Given the description of an element on the screen output the (x, y) to click on. 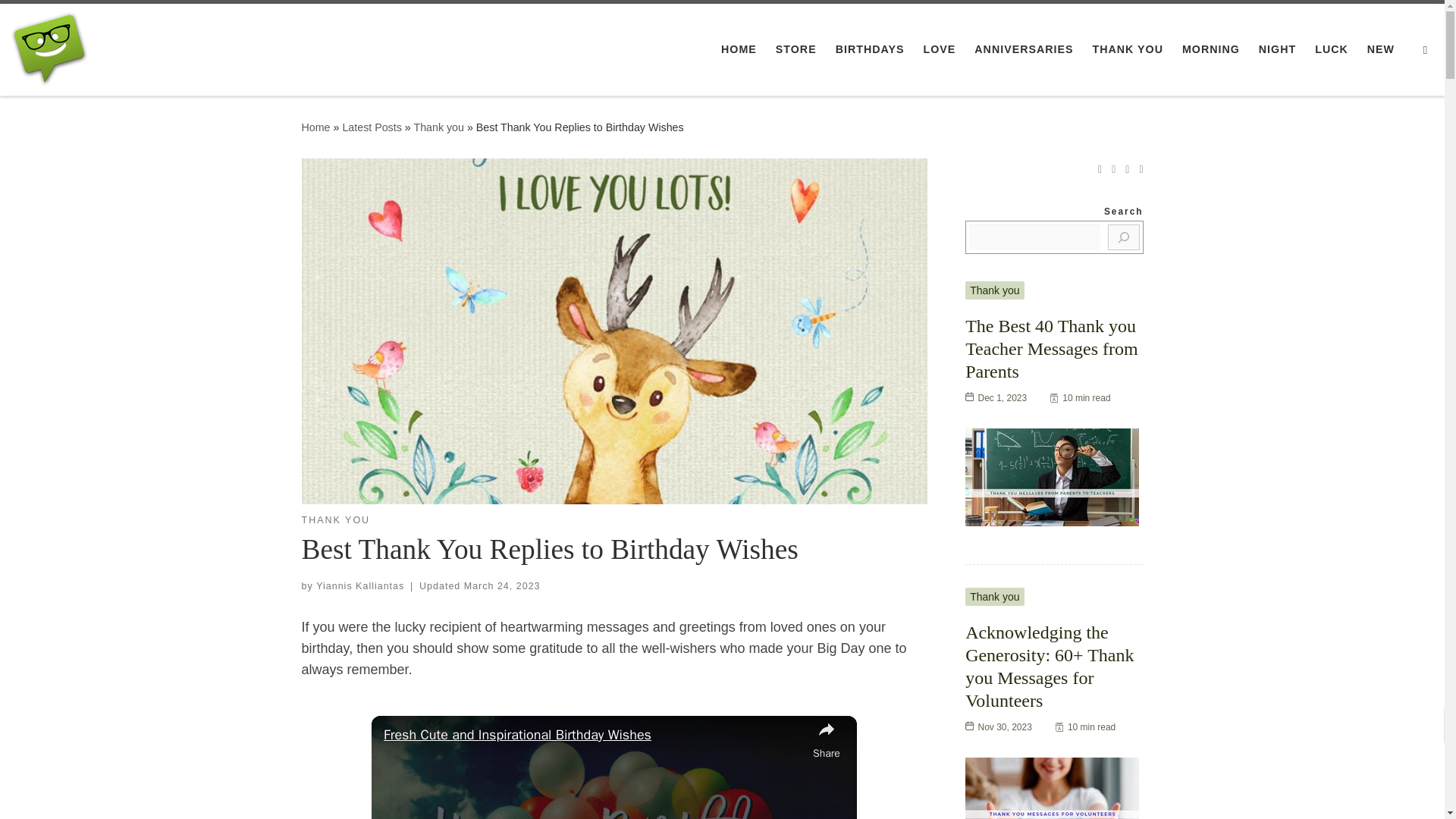
Home (315, 127)
NEW (1380, 49)
MORNING (1210, 49)
View all posts by Yiannis Kalliantas (359, 585)
share (826, 739)
View all posts in Thank you (336, 520)
Yiannis Kalliantas (359, 585)
Latest Posts (371, 127)
Thank you (438, 127)
Latest Posts (371, 127)
LOVE (938, 49)
THANK YOU (336, 520)
NIGHT (1277, 49)
ANNIVERSARIES (1023, 49)
STORE (796, 49)
